Given the description of an element on the screen output the (x, y) to click on. 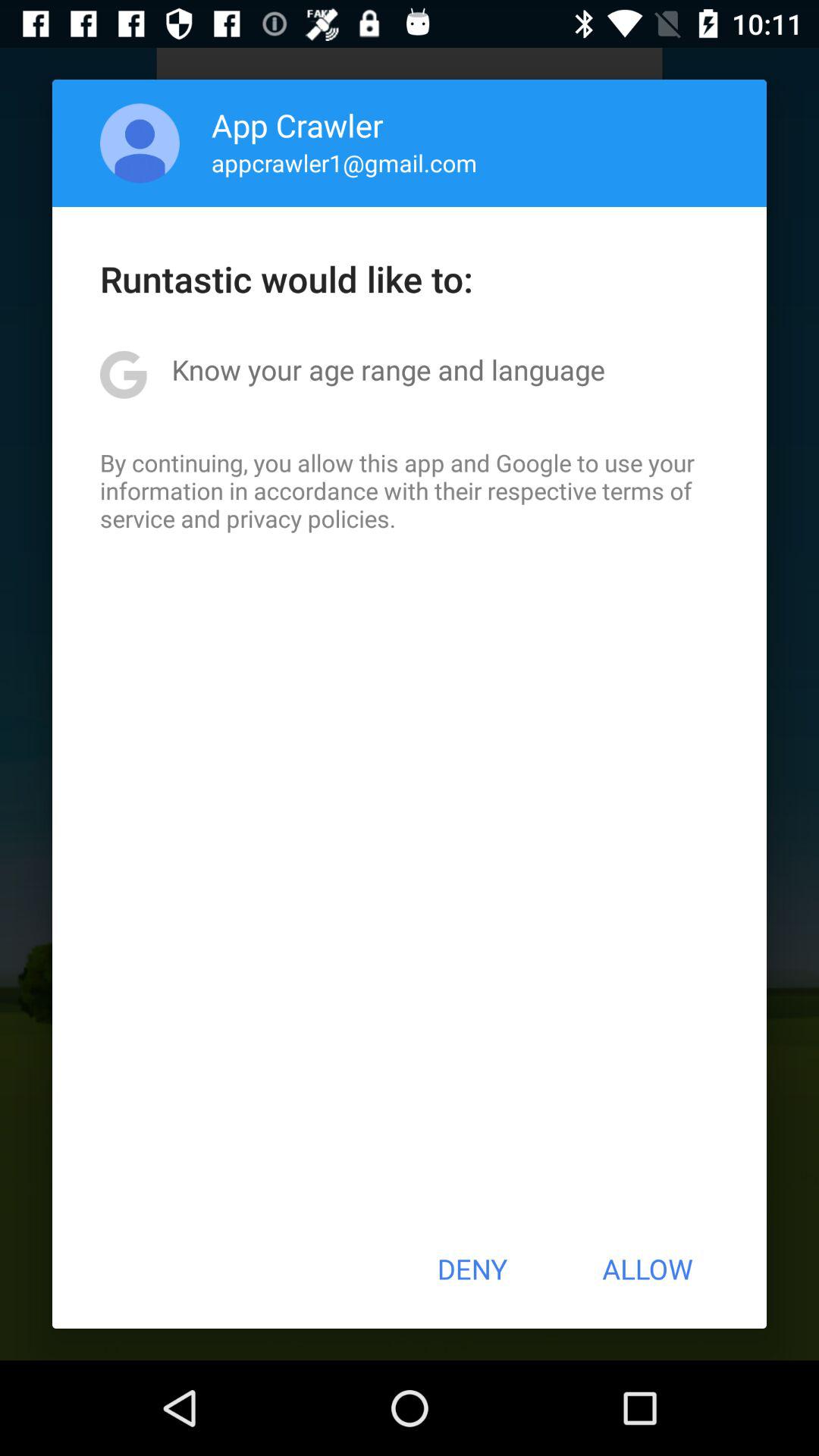
scroll until app crawler (297, 124)
